Given the description of an element on the screen output the (x, y) to click on. 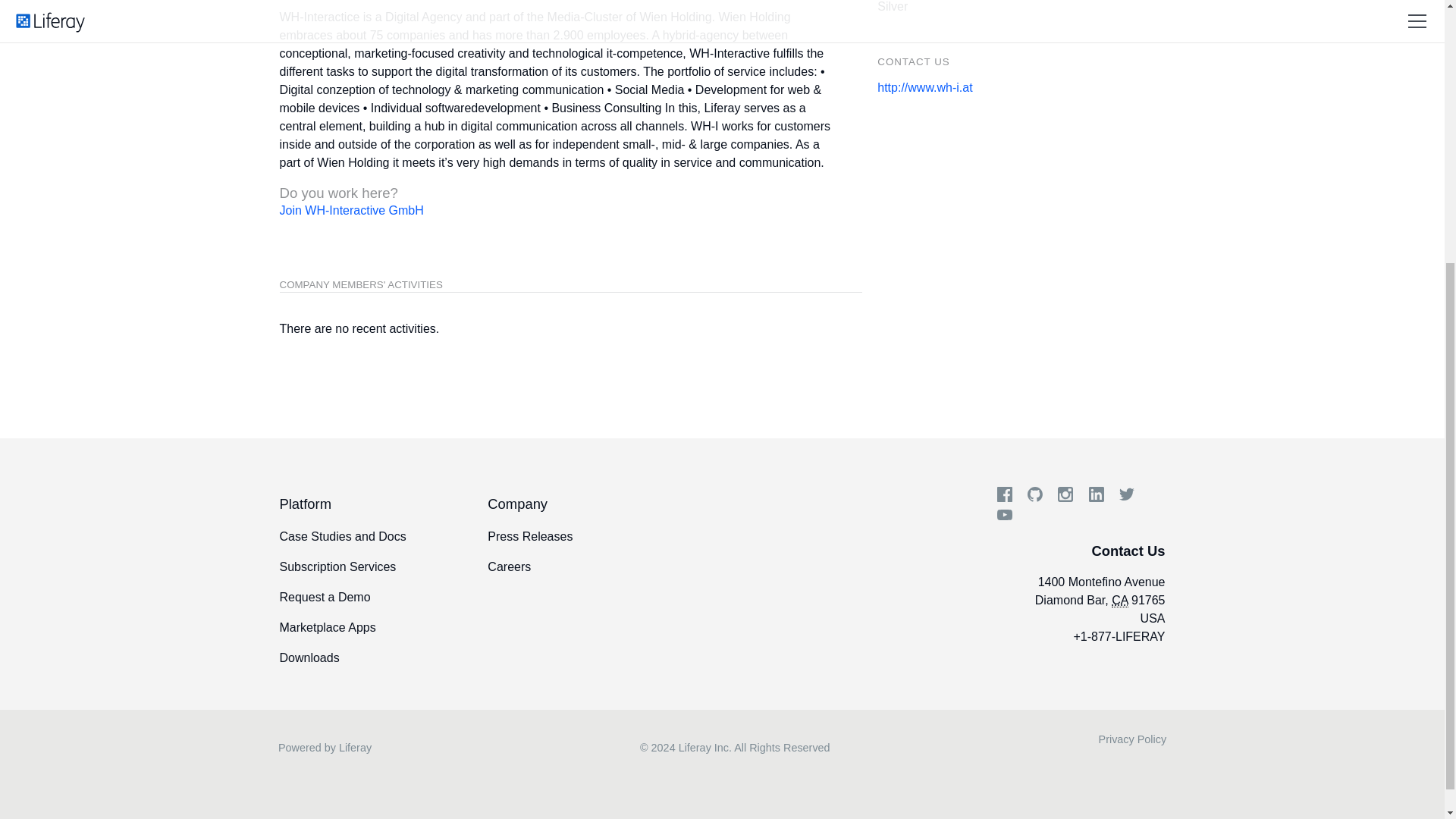
Privacy Policy (1133, 740)
Twitter (1126, 497)
Platform (360, 503)
Contact Us (1127, 550)
Careers (547, 567)
California (1119, 600)
GitHub (1035, 497)
Company (547, 503)
Case Studies and Docs (342, 536)
Press Releases (529, 536)
Request a Demo (360, 597)
Subscription Services (360, 567)
Instagram (1064, 497)
Facebook (1003, 497)
LinkedIn (1096, 497)
